Given the description of an element on the screen output the (x, y) to click on. 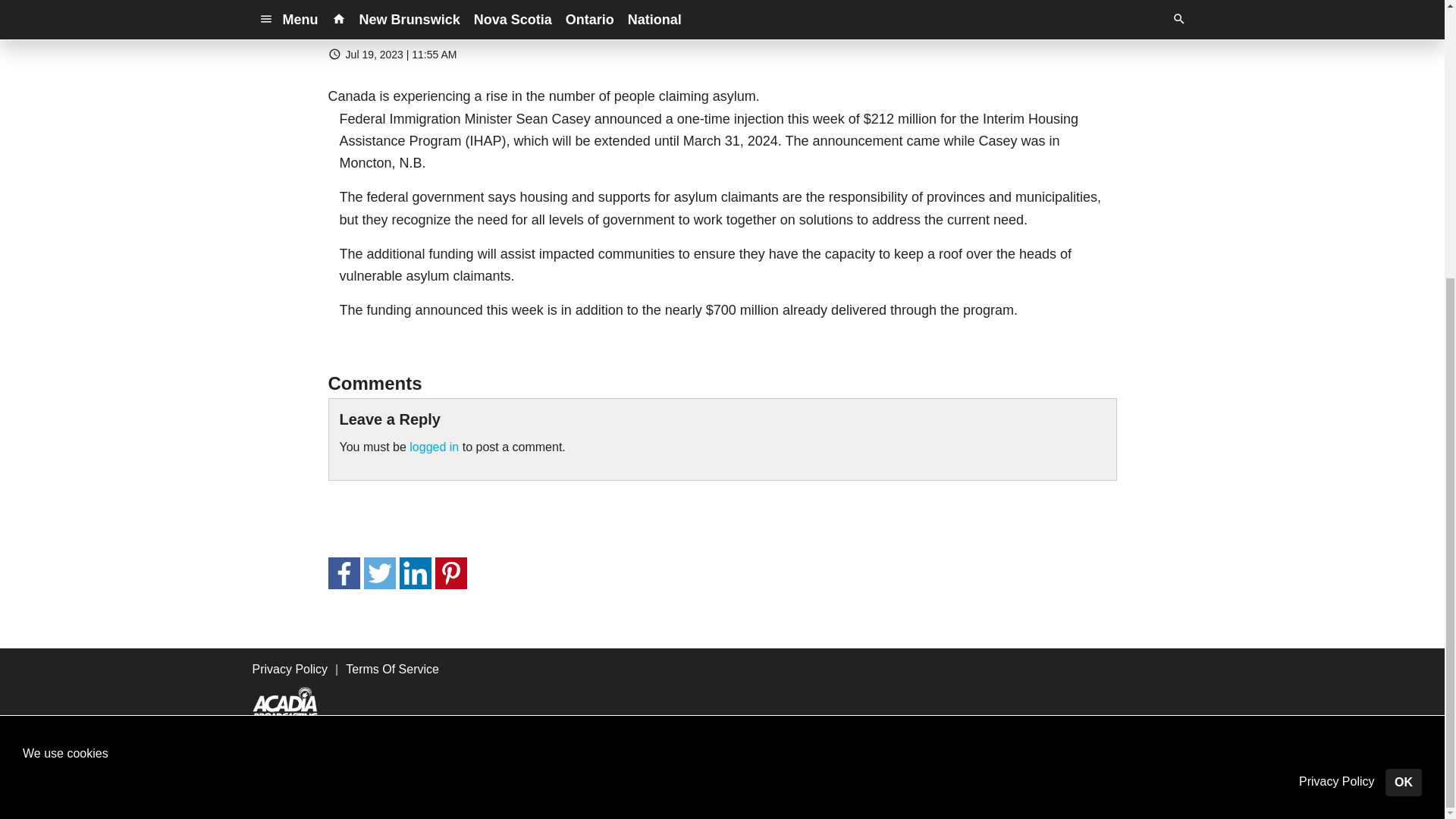
Privacy Policy (577, 772)
Powered By SoCast (333, 797)
logged in (433, 446)
Privacy Policy (1336, 368)
Privacy Policy (289, 669)
OK (1404, 369)
Powered By SoCast (333, 796)
Terms of Service (688, 772)
Terms Of Service (392, 669)
